Given the description of an element on the screen output the (x, y) to click on. 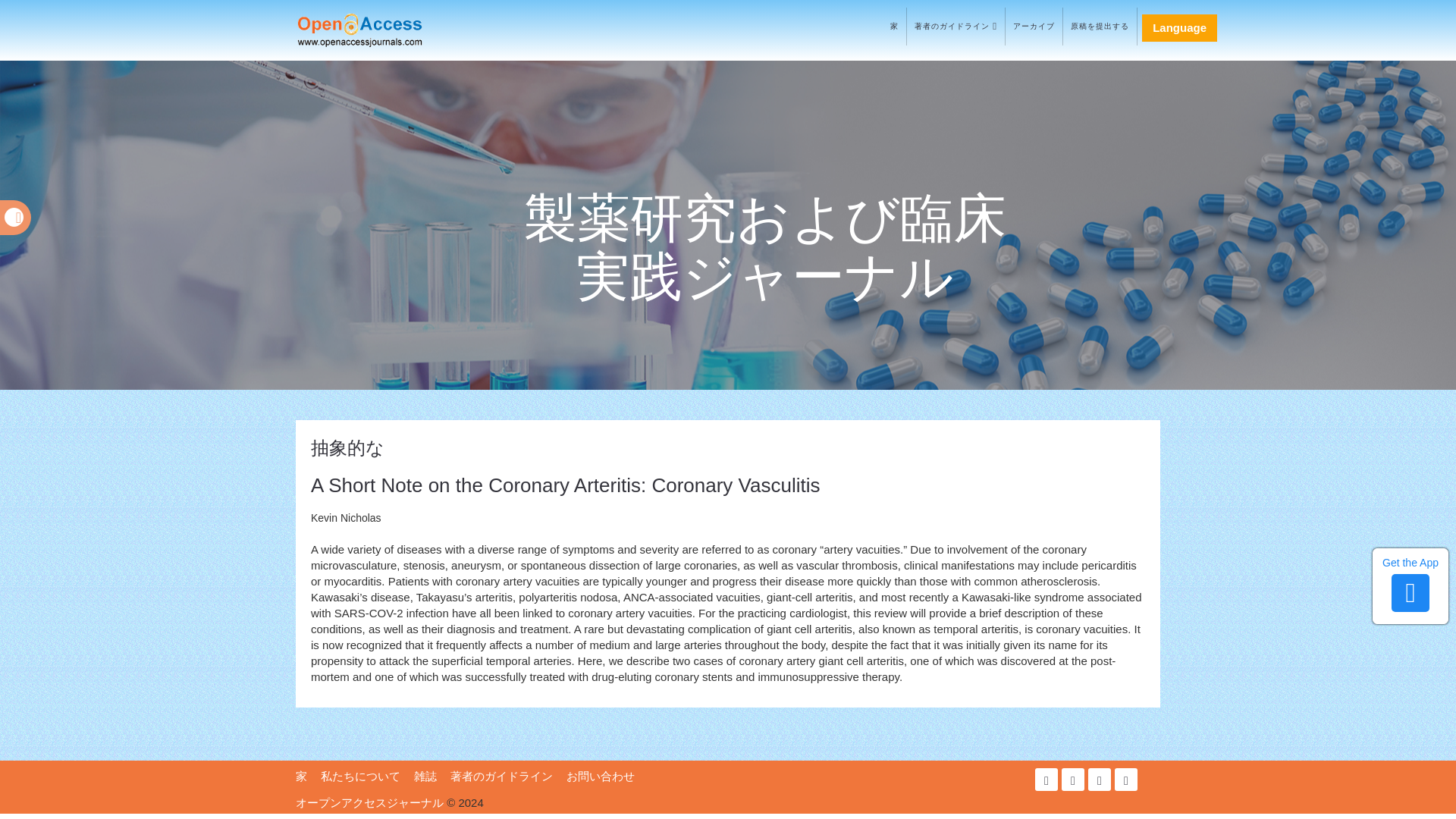
Open Access Journals (381, 30)
Language (1179, 27)
